Given the description of an element on the screen output the (x, y) to click on. 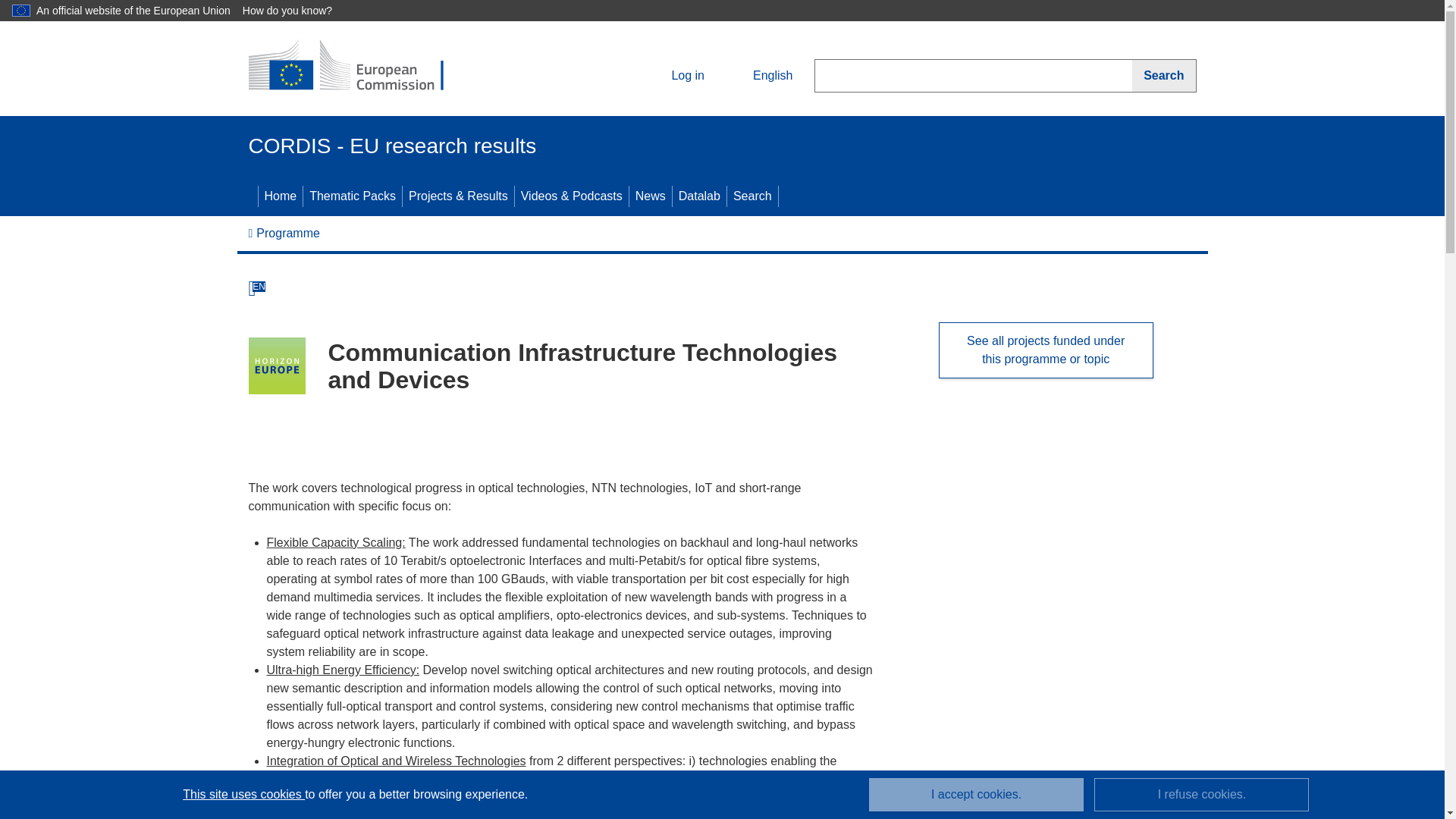
Thematic Packs (351, 196)
Search (751, 196)
Datalab (699, 196)
Home (279, 196)
EN (257, 286)
Log in (675, 75)
How do you know? (295, 10)
Search (1163, 75)
Skip to main content (5, 6)
English (760, 75)
News (649, 196)
See all projects funded under this programme or topic (1046, 350)
European Commission (358, 66)
